Given the description of an element on the screen output the (x, y) to click on. 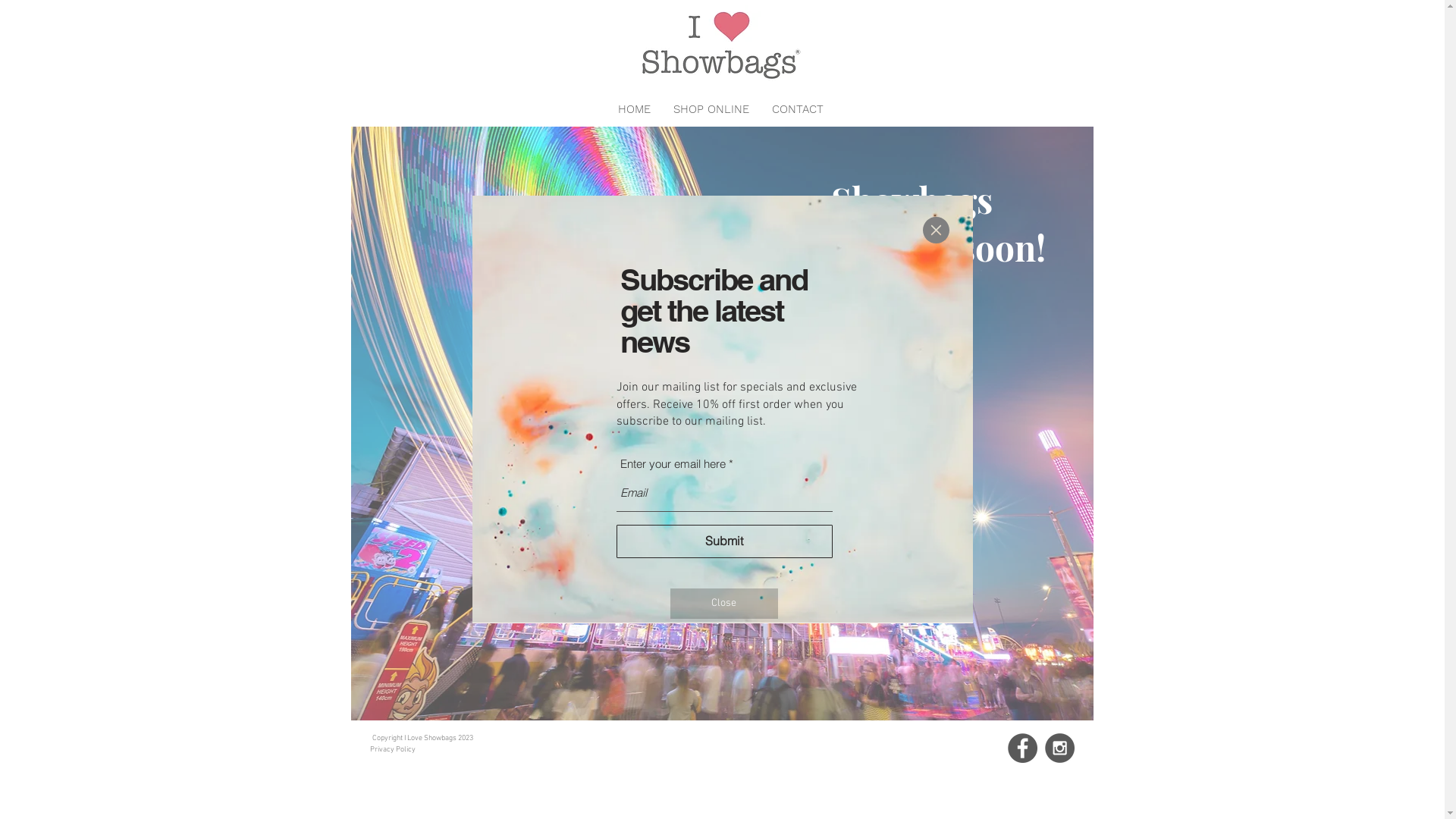
CONTACT Element type: text (796, 108)
SHOP ONLINE Element type: text (710, 108)
HOME Element type: text (634, 108)
Back to site Element type: hover (935, 230)
Submit Element type: text (723, 541)
Privacy Policy Element type: text (392, 749)
iloveshowbags Element type: hover (721, 49)
